Given the description of an element on the screen output the (x, y) to click on. 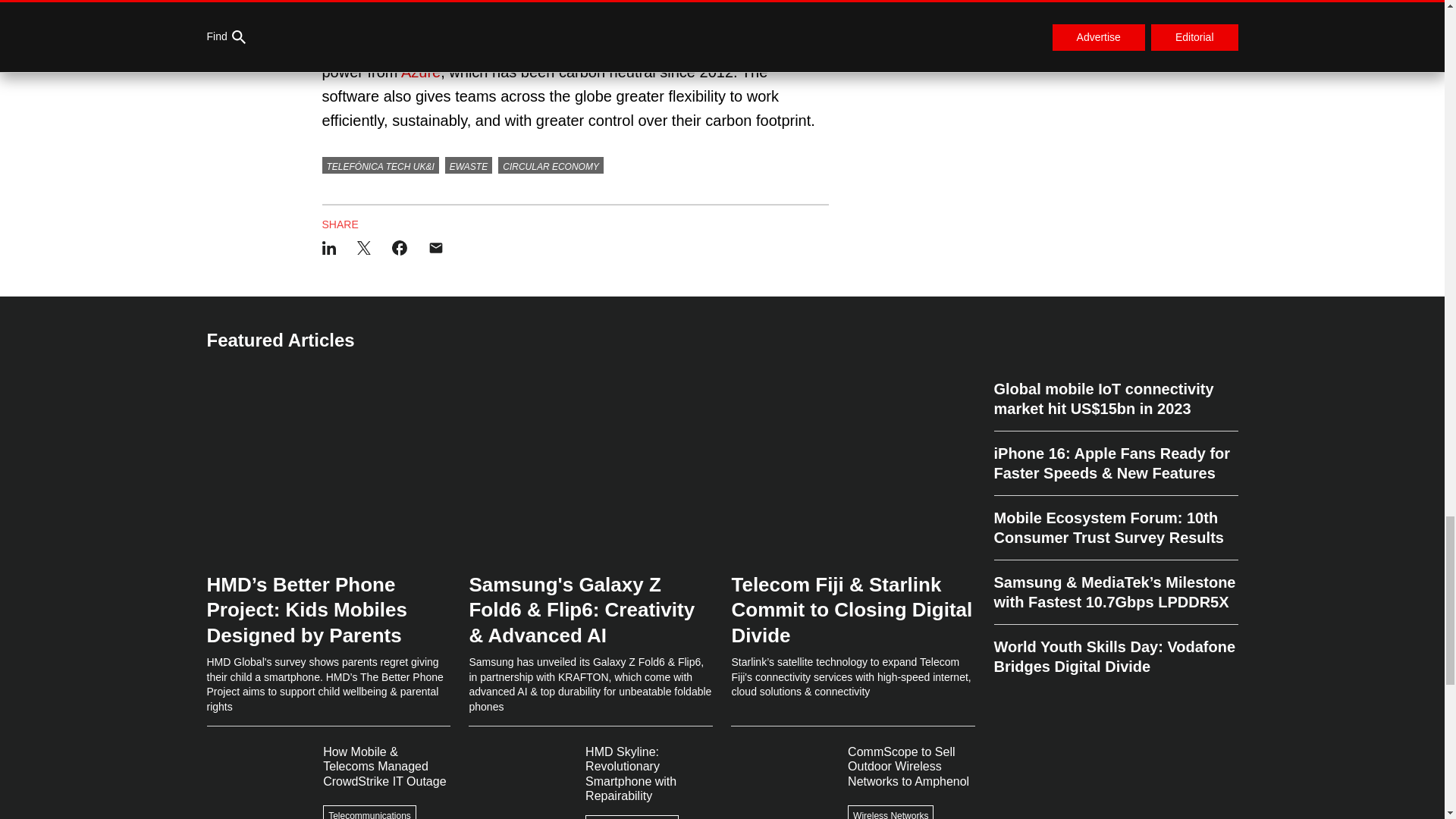
World Youth Skills Day: Vodafone Bridges Digital Divide (1114, 650)
EWASTE (468, 165)
Azure (421, 71)
Mobile Ecosystem Forum: 10th Consumer Trust Survey Results (1114, 528)
CIRCULAR ECONOMY (550, 165)
